Given the description of an element on the screen output the (x, y) to click on. 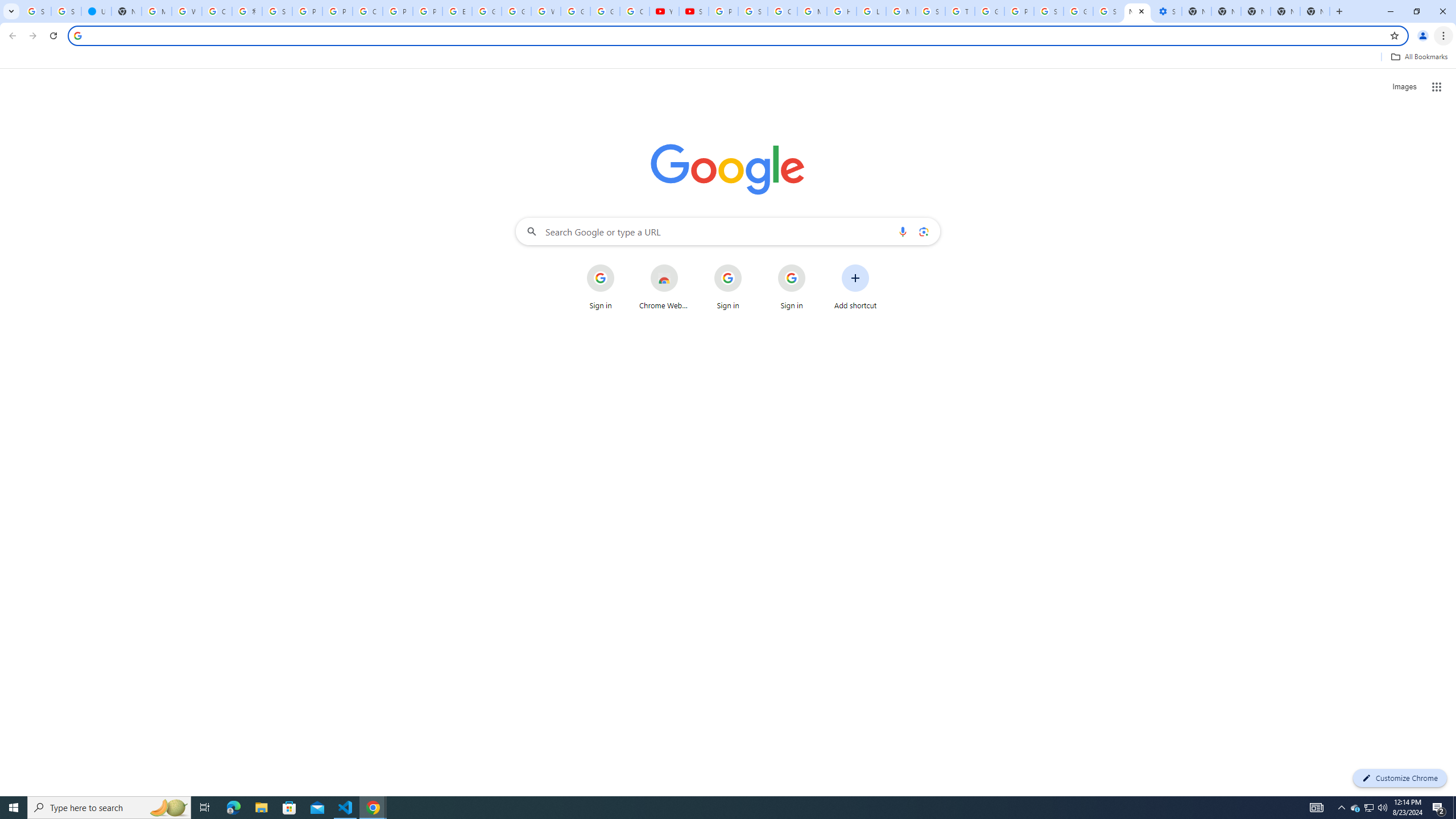
Google Slides: Sign-in (486, 11)
Create your Google Account (216, 11)
Edit and view right-to-left text - Google Docs Editors Help (456, 11)
